Given the description of an element on the screen output the (x, y) to click on. 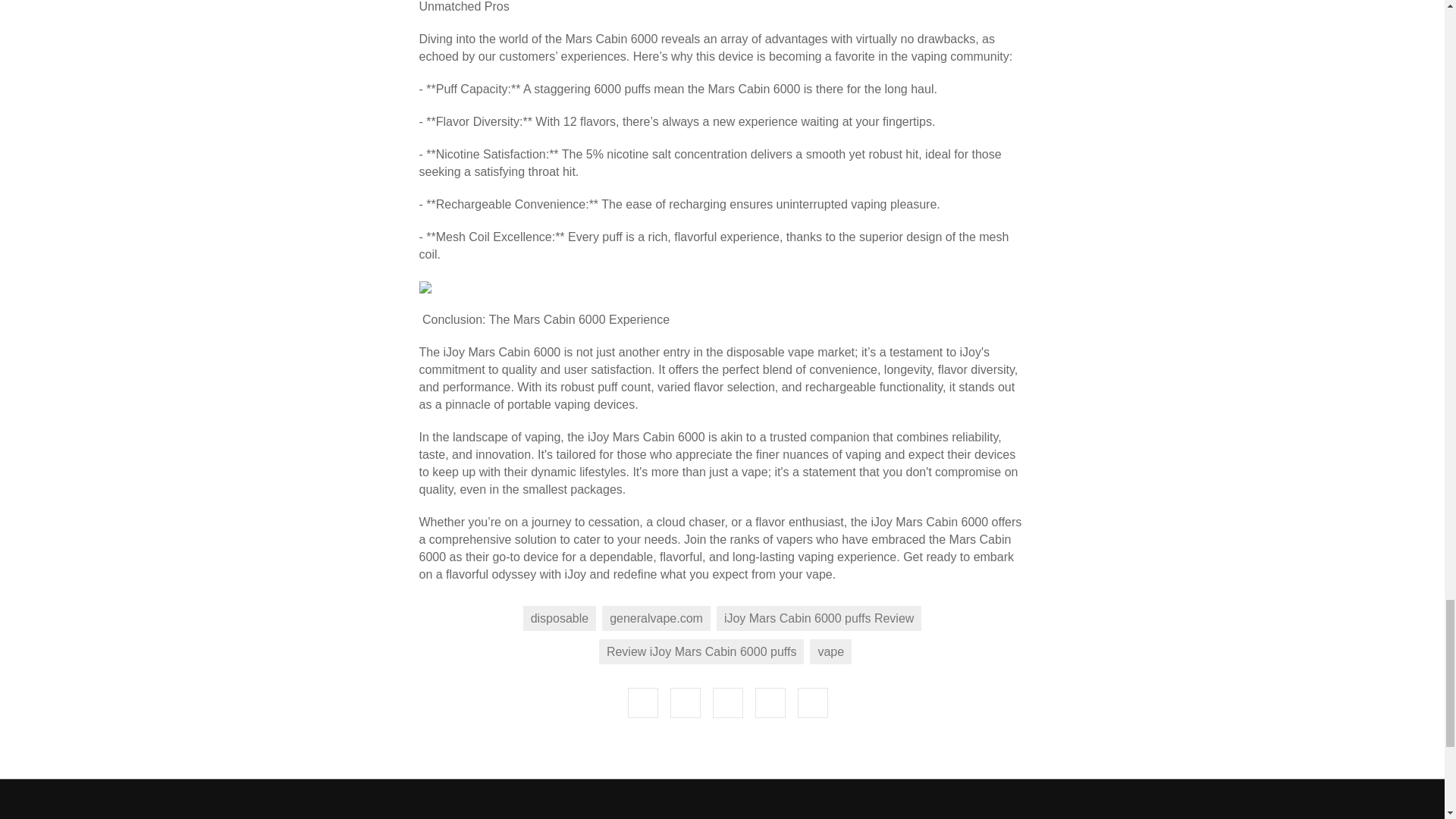
Pinterest (812, 702)
Twitter (770, 702)
Print (727, 702)
Facebook (642, 702)
Email (684, 702)
